Given the description of an element on the screen output the (x, y) to click on. 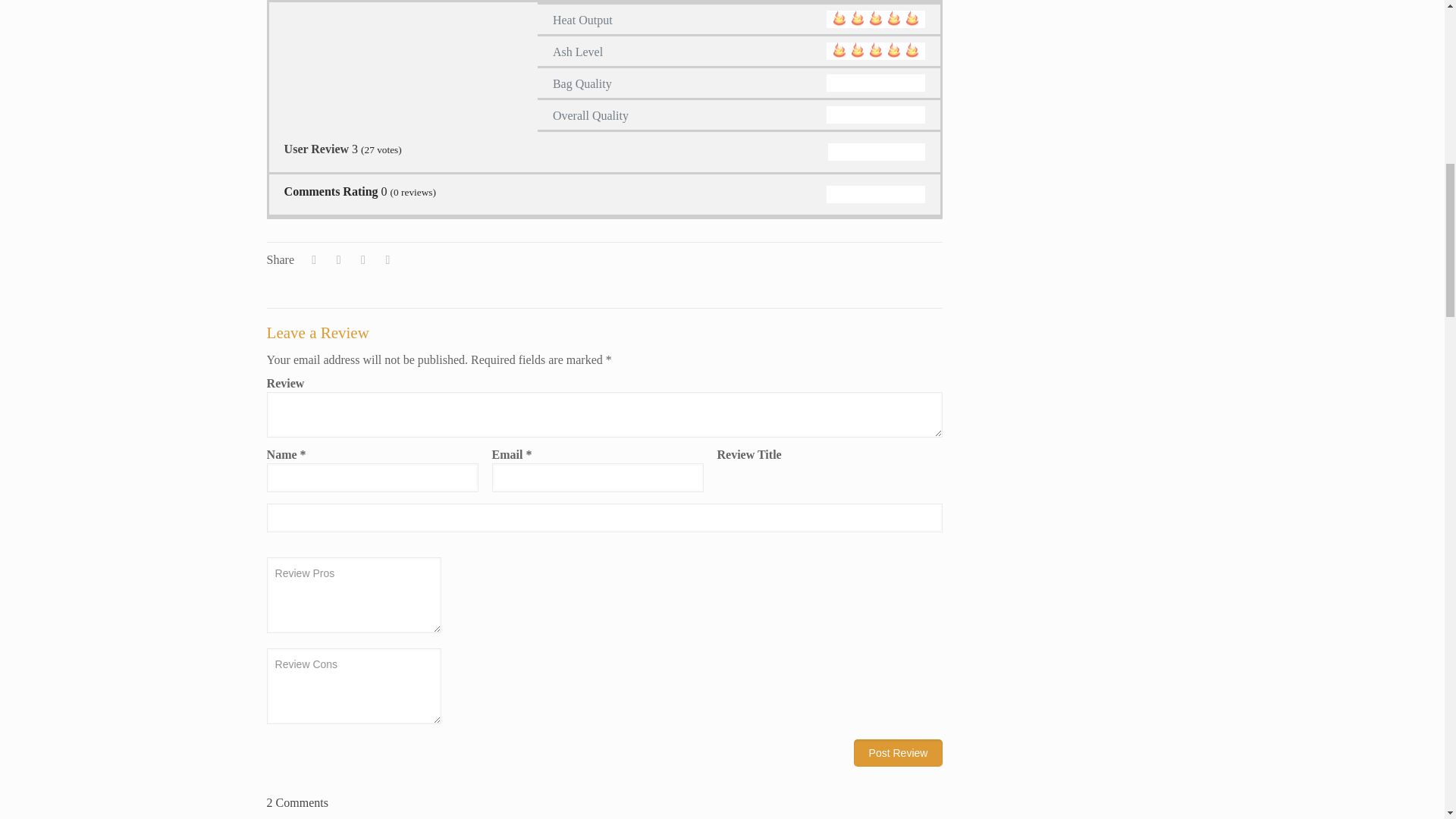
Post Review (898, 752)
Post Review (898, 752)
